Given the description of an element on the screen output the (x, y) to click on. 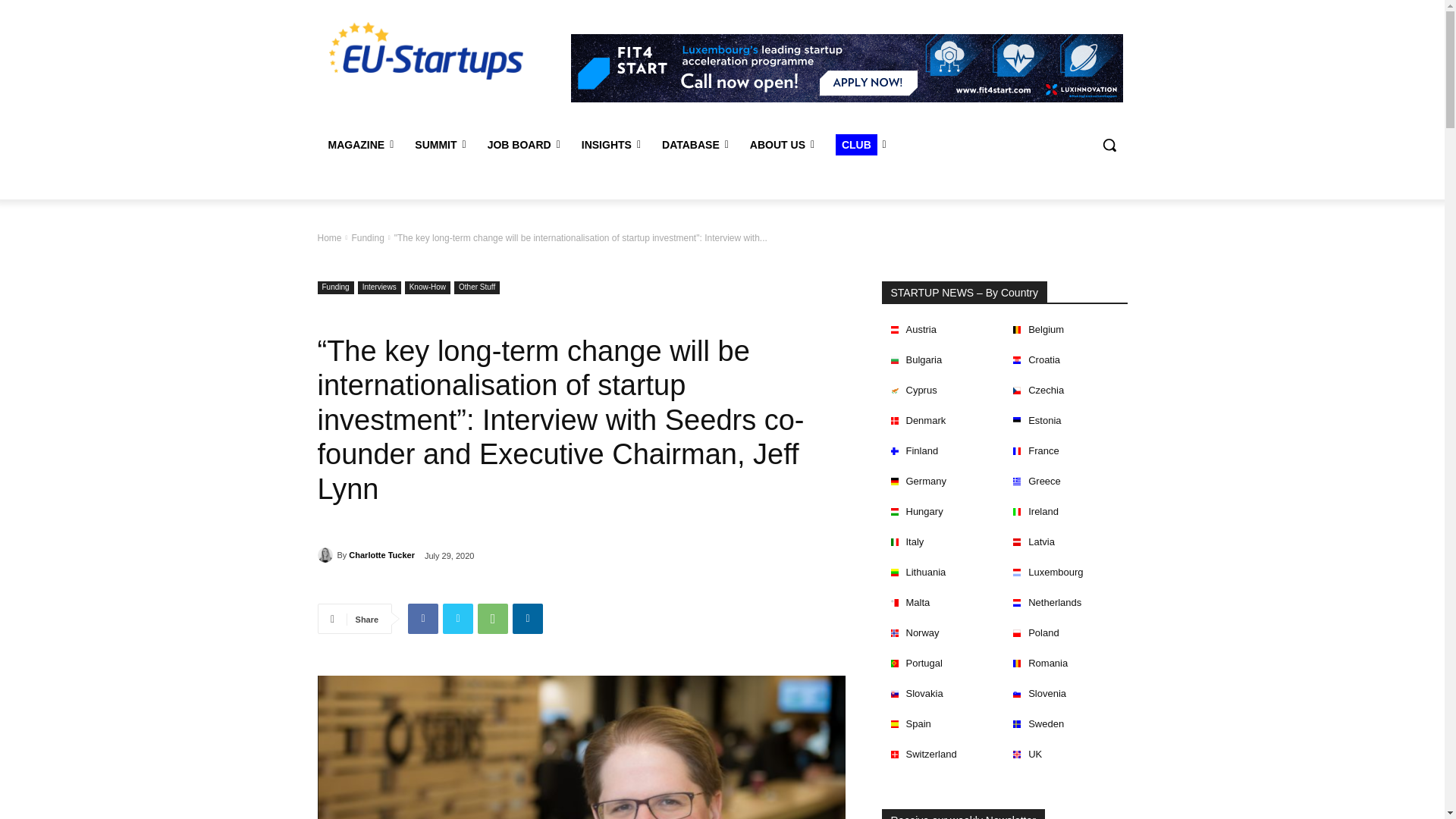
Linkedin (527, 618)
Jeff Lynn Seedrs (580, 747)
Charlotte Tucker (326, 554)
Twitter (457, 618)
WhatsApp (492, 618)
Facebook (422, 618)
View all posts in Funding (367, 237)
